Given the description of an element on the screen output the (x, y) to click on. 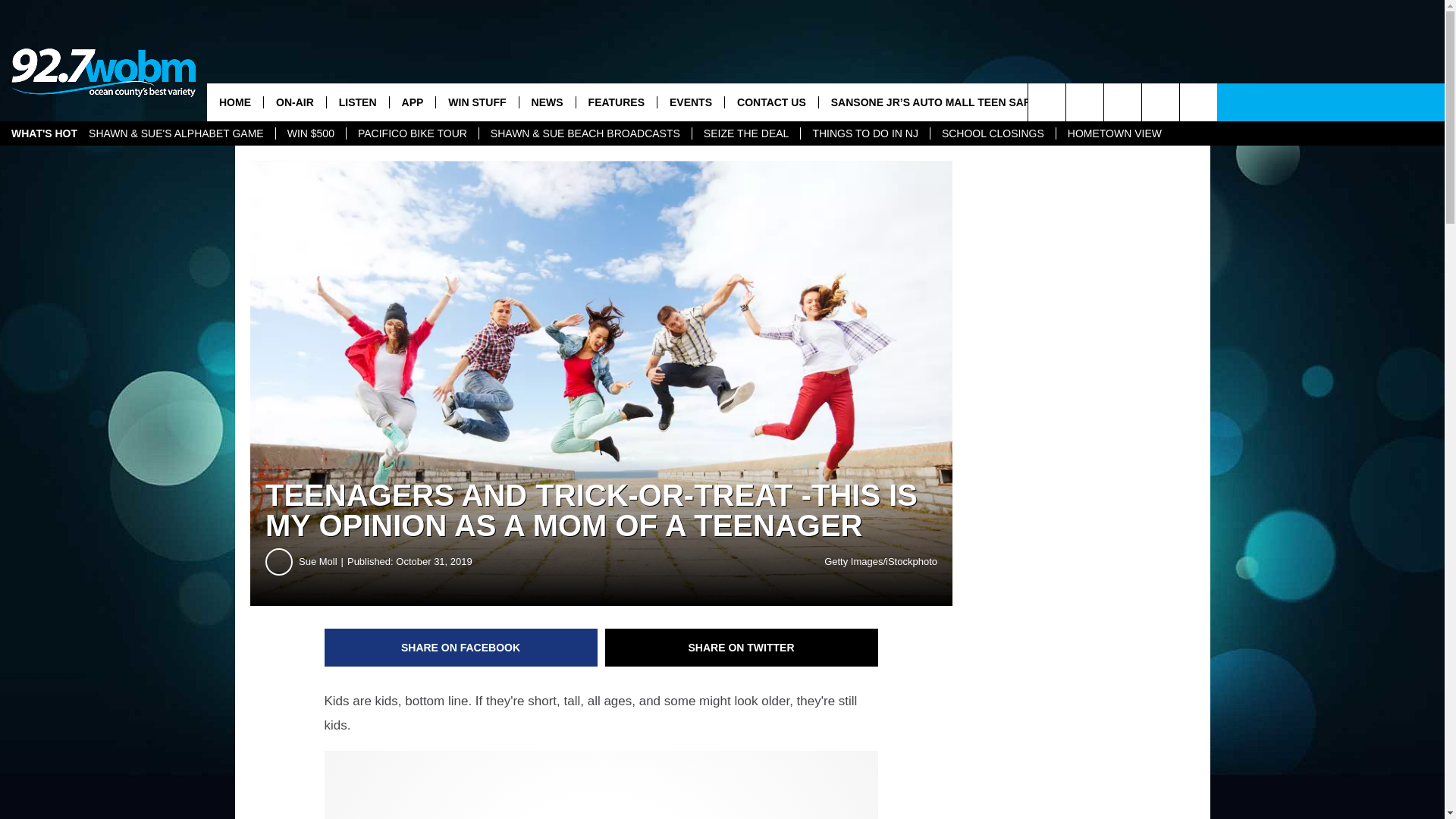
THINGS TO DO IN NJ (864, 133)
HOME (234, 102)
SEIZE THE DEAL (745, 133)
HOMETOWN VIEW (1114, 133)
Share on Facebook (460, 647)
SCHOOL CLOSINGS (992, 133)
NEWS (546, 102)
Share on Twitter (741, 647)
LISTEN (357, 102)
WIN STUFF (476, 102)
ON-AIR (294, 102)
PACIFICO BIKE TOUR (412, 133)
APP (411, 102)
